Given the description of an element on the screen output the (x, y) to click on. 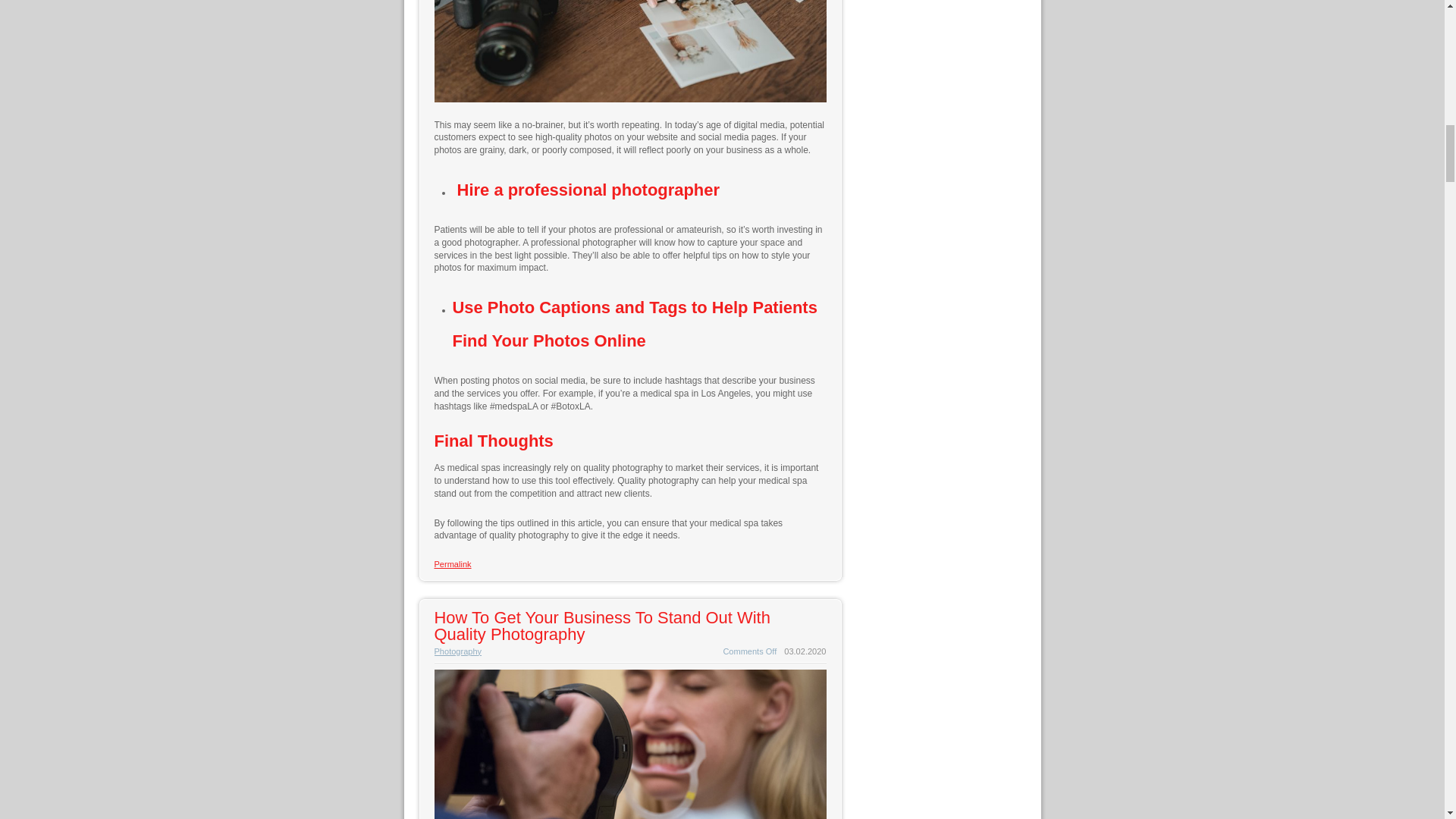
Photography (457, 651)
Permalink (451, 563)
